Given the description of an element on the screen output the (x, y) to click on. 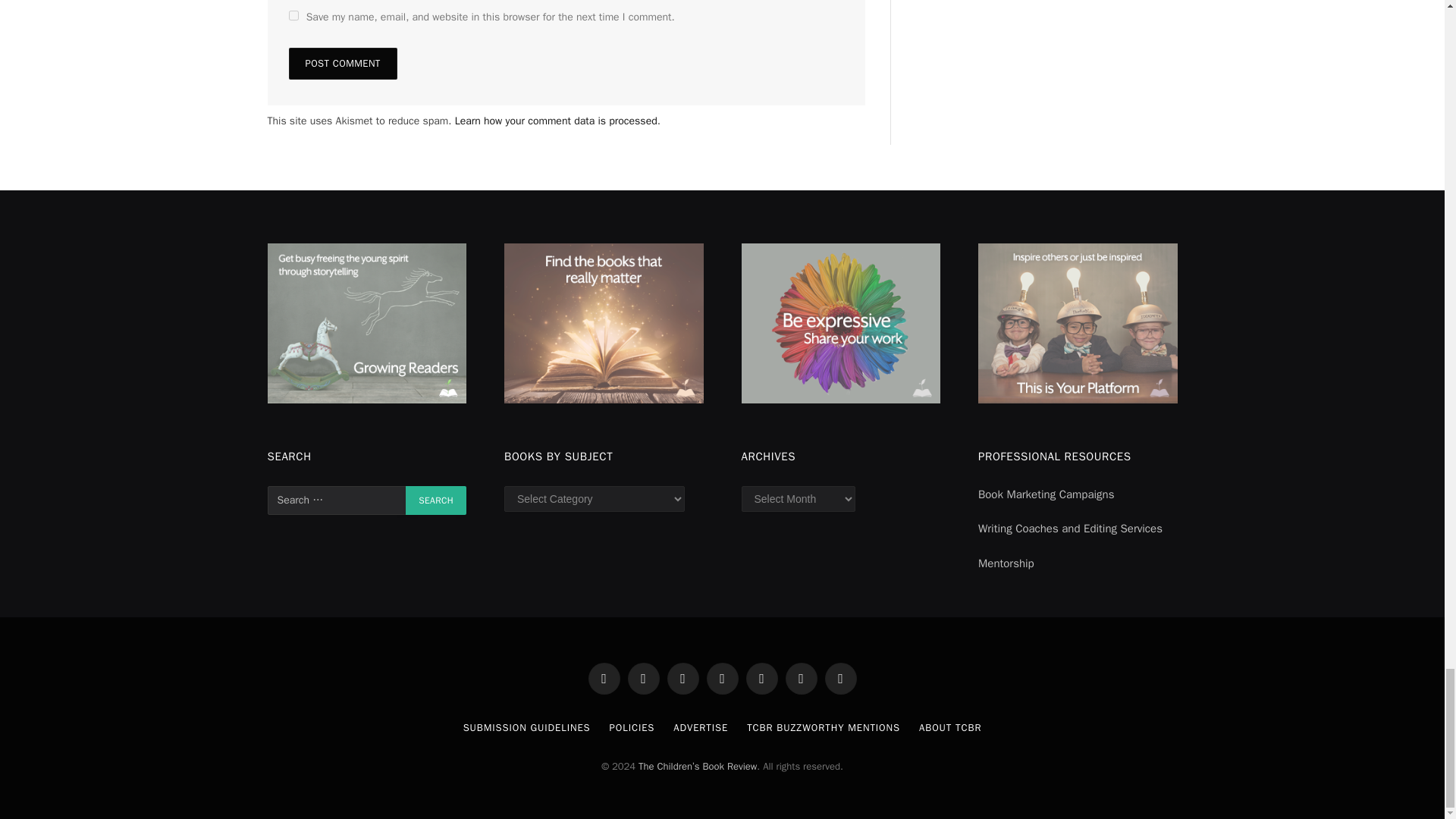
Search (435, 500)
Search (435, 500)
Post Comment (342, 63)
yes (293, 15)
